Given the description of an element on the screen output the (x, y) to click on. 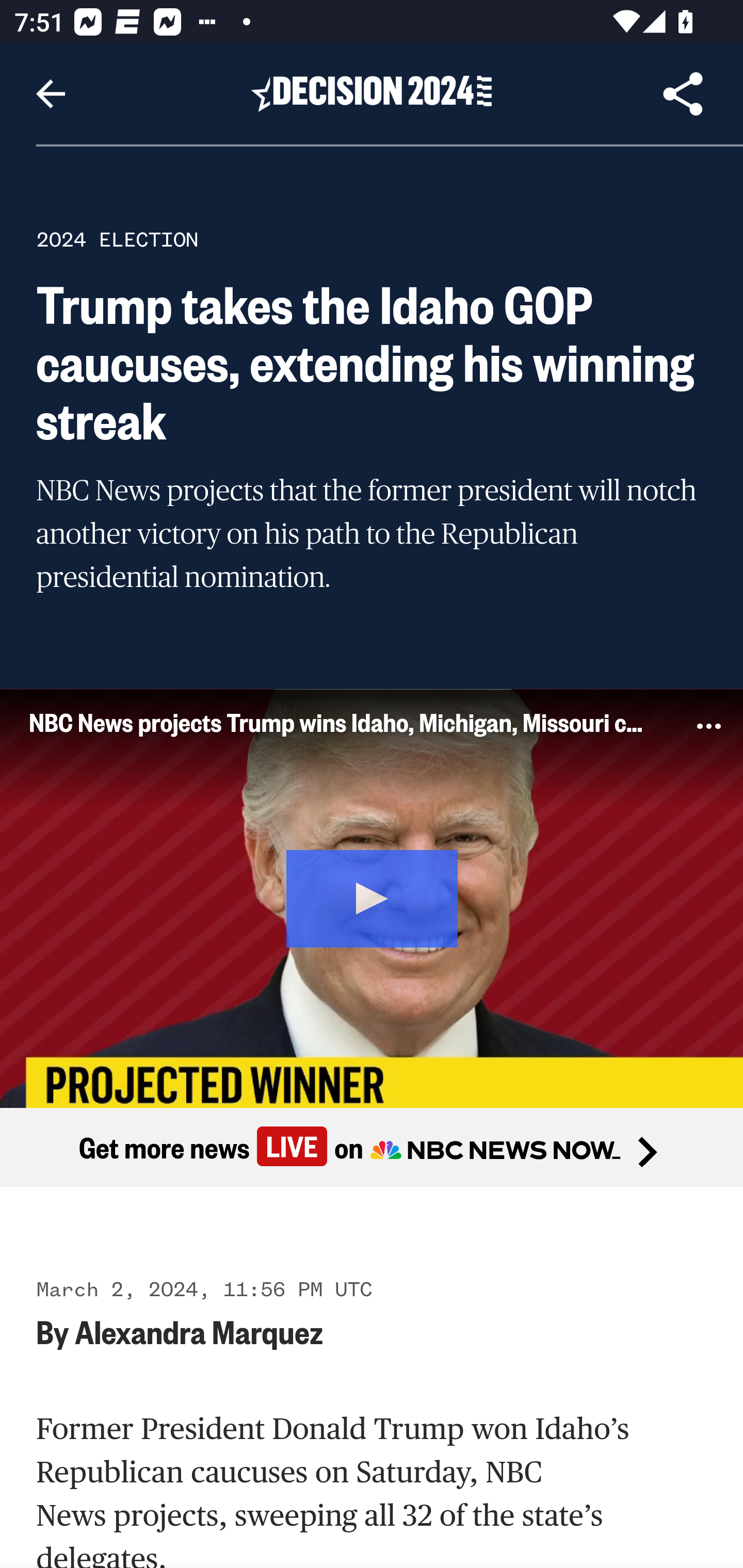
Navigate up (50, 93)
Share Article, button (683, 94)
Header, Decision 2024 (371, 93)
2024 ELECTION (117, 239)
Video Player Unable to play media. Play   (371, 897)
Play (372, 896)
Get more news Live on Get more news Live on (371, 1147)
